Given the description of an element on the screen output the (x, y) to click on. 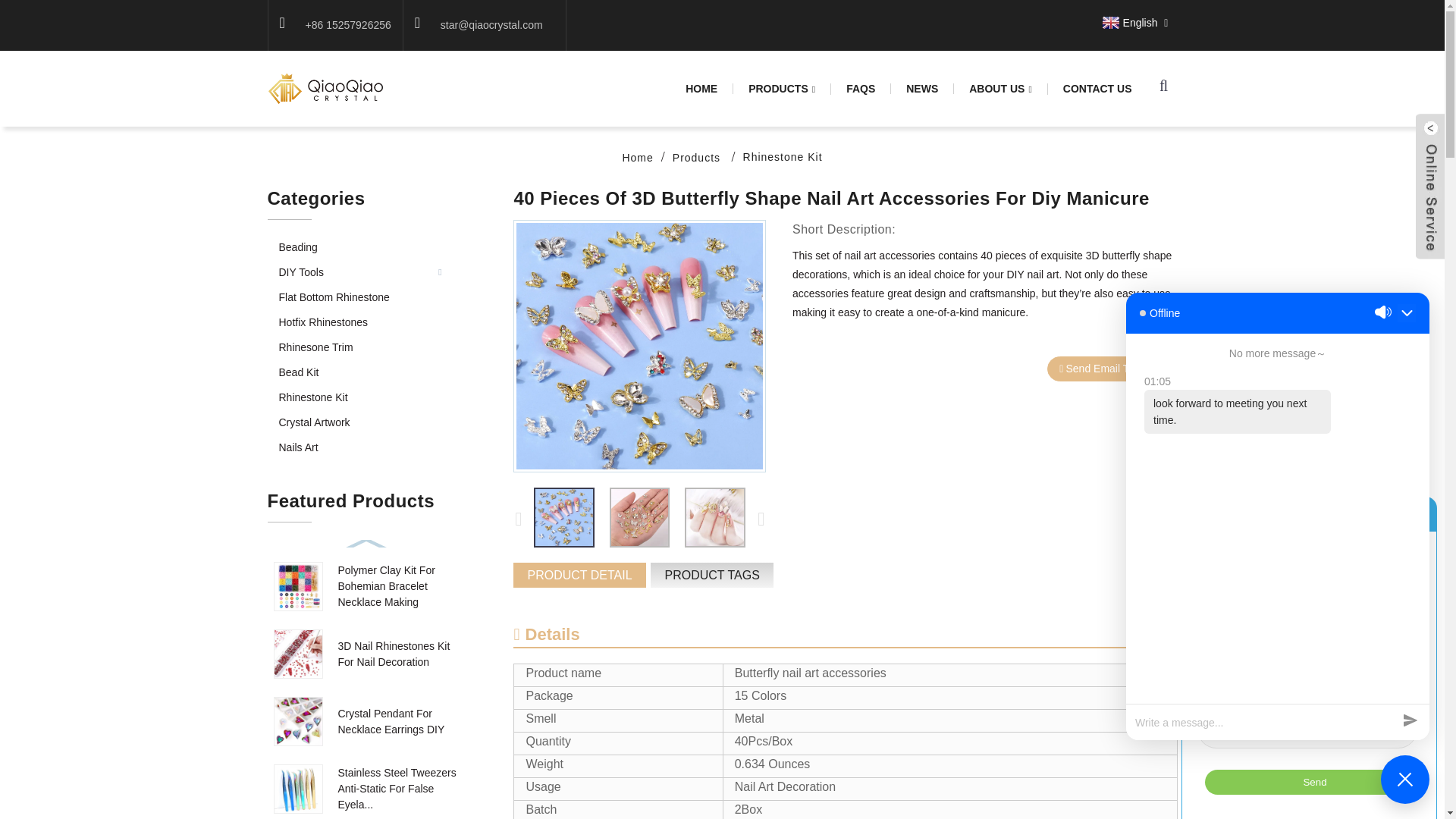
English (1128, 22)
